Given the description of an element on the screen output the (x, y) to click on. 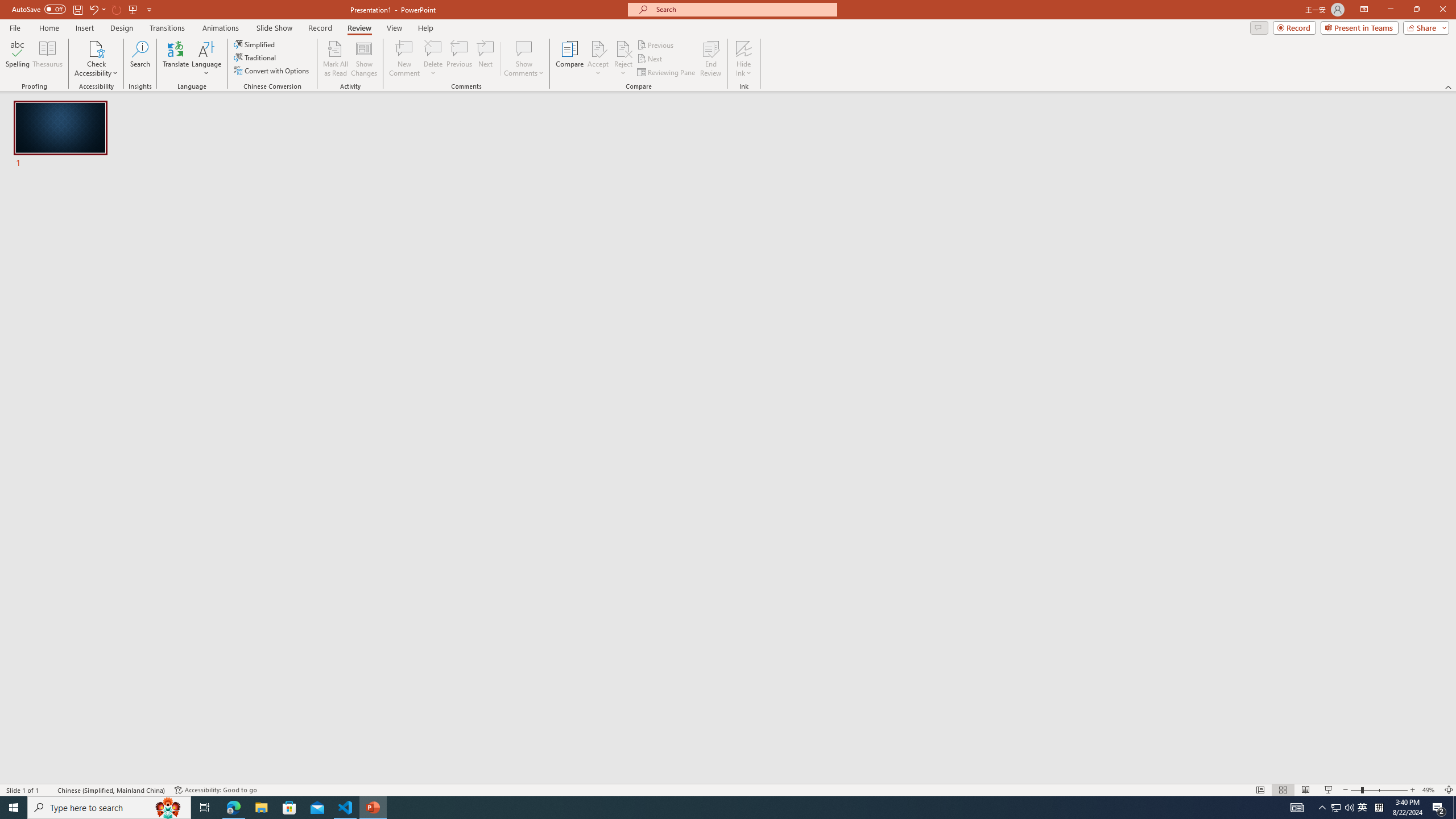
Reject (622, 58)
